Given the description of an element on the screen output the (x, y) to click on. 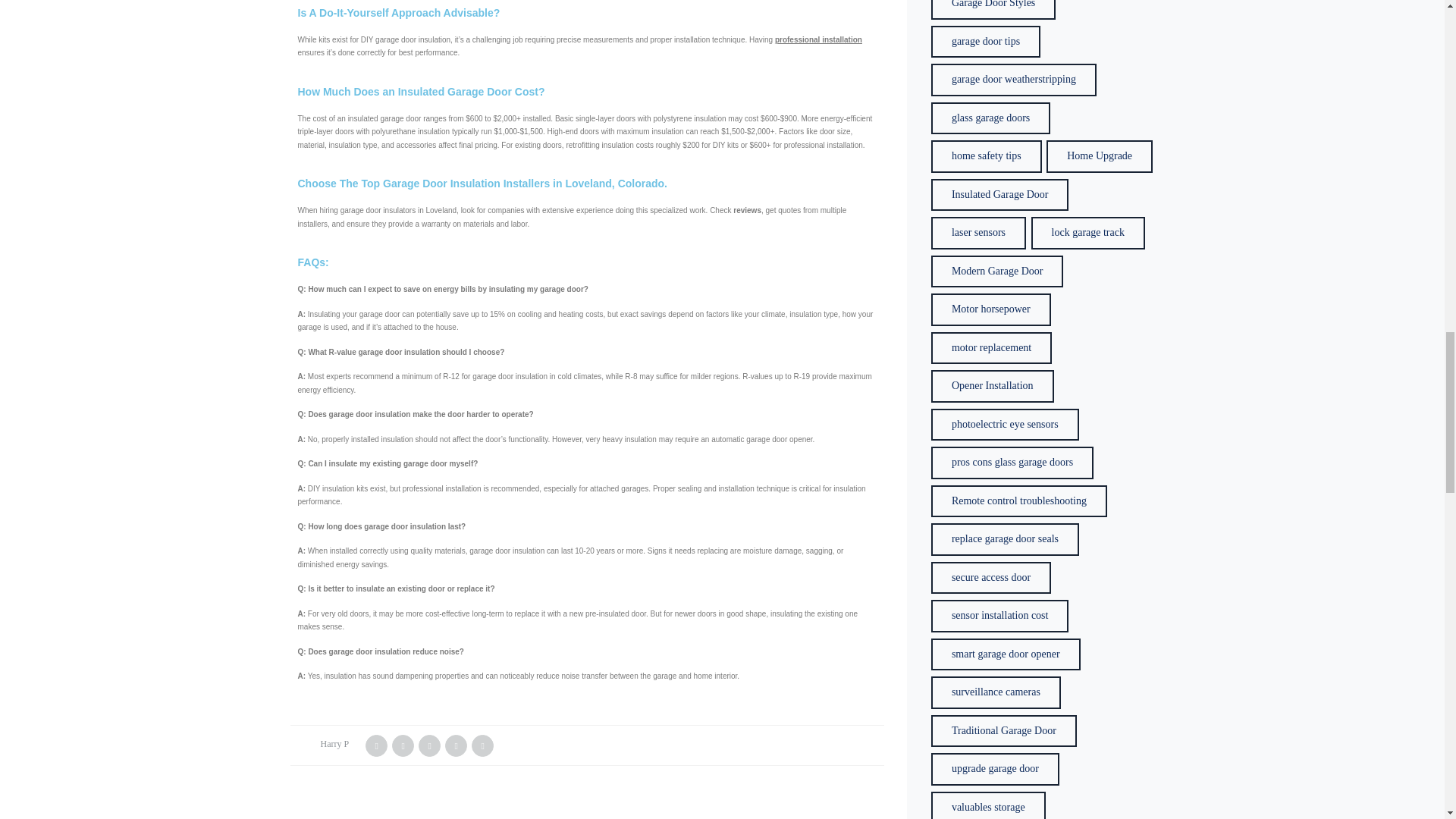
reviews (747, 210)
Harry P (334, 743)
GARAGE DOOR TIPS (340, 818)
professional installation (817, 39)
